Given the description of an element on the screen output the (x, y) to click on. 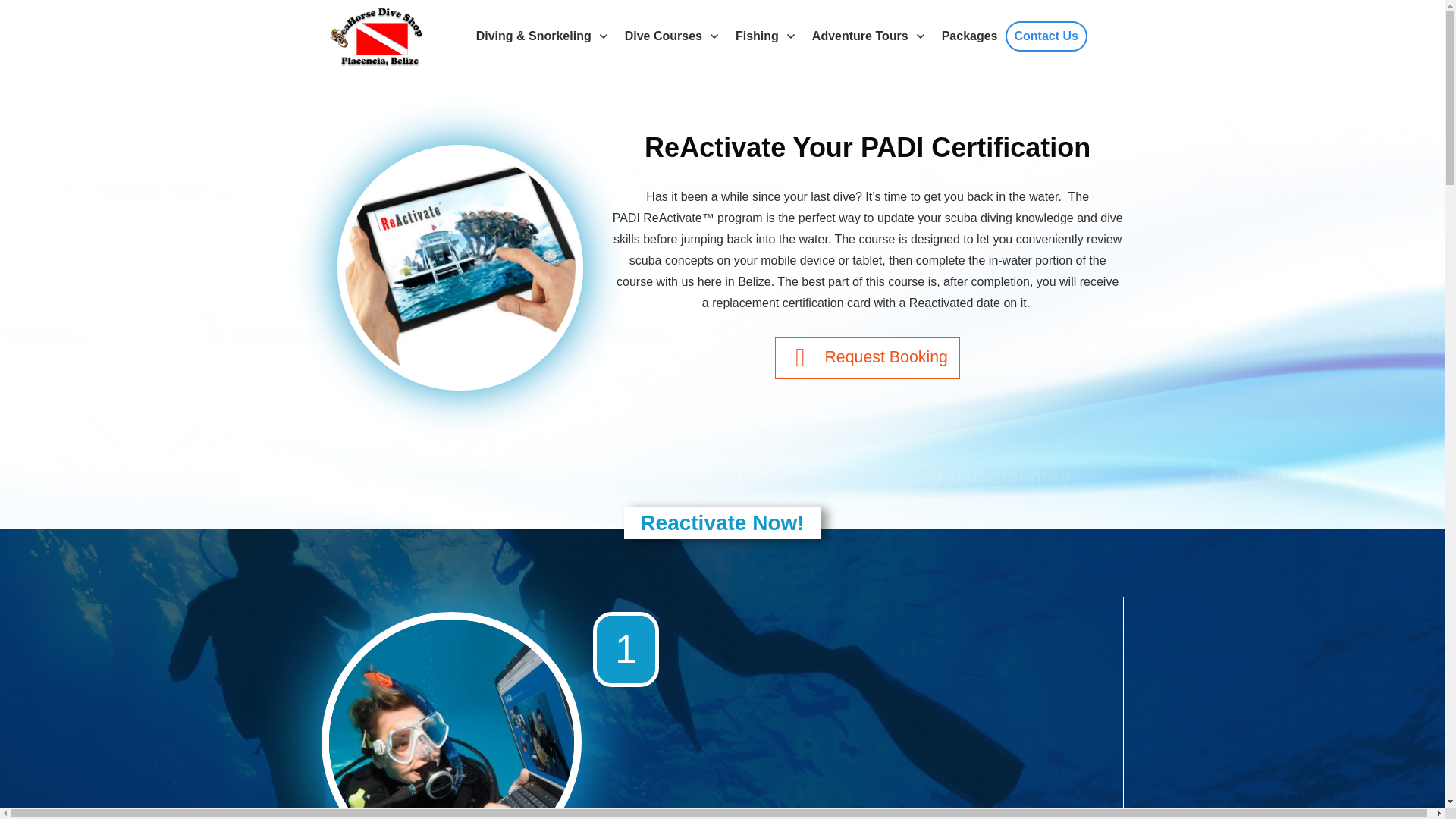
Request Booking (866, 358)
Padi reactivate 2 (460, 267)
Adventure Tours (869, 36)
PADI-eLearning (451, 719)
Fishing (765, 36)
Dive Courses (672, 36)
Contact Us (1046, 36)
Packages (969, 36)
